Given the description of an element on the screen output the (x, y) to click on. 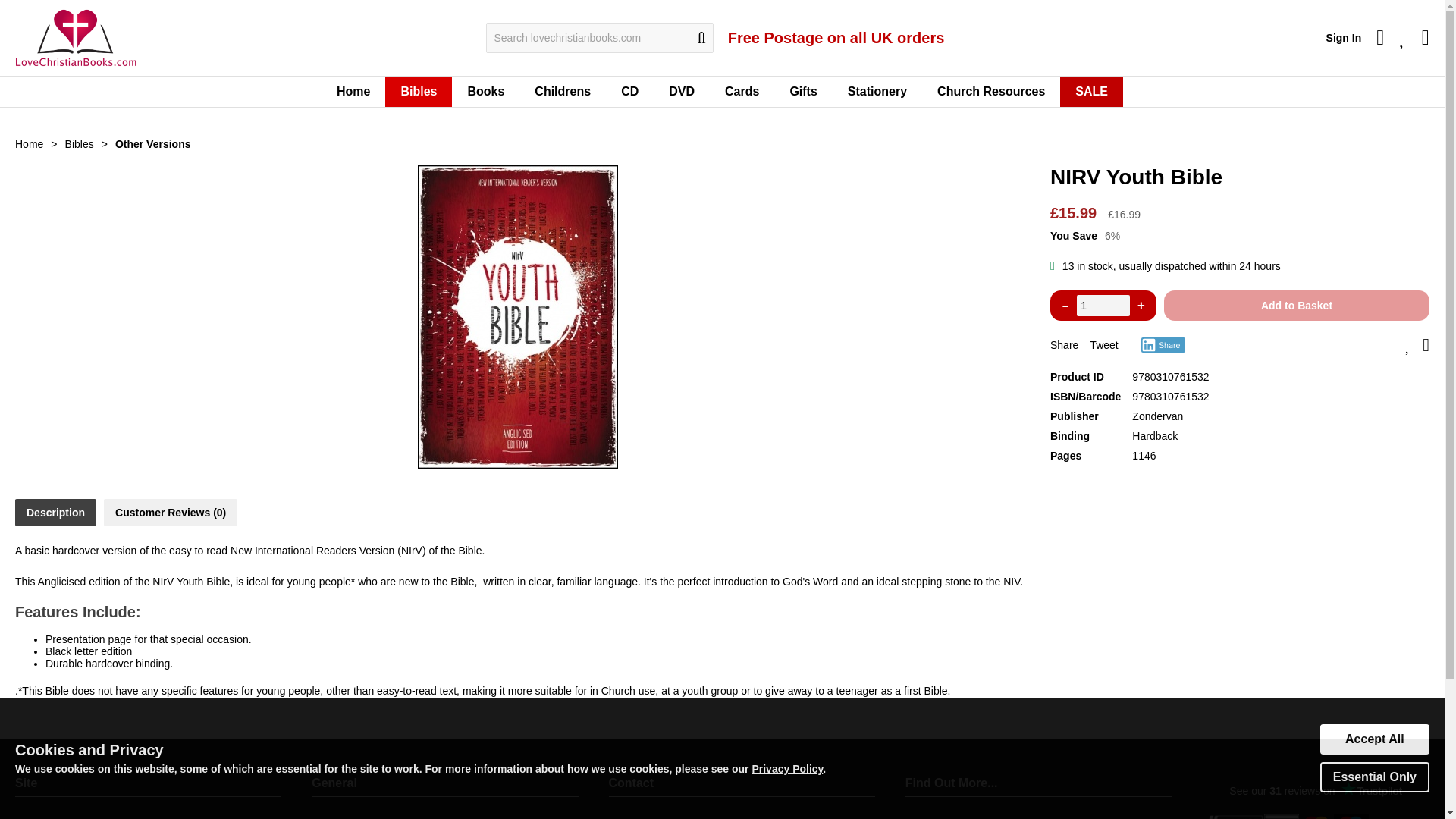
1 (1103, 305)
Bargain Christian Products all at Great Prices (1090, 91)
Customer reviews powered by Trustpilot (1315, 791)
Sign In (1343, 37)
Books (485, 91)
Bibles (418, 91)
Individual Christian Greetings Cards, with Scripture Verses (742, 91)
Home (353, 91)
Christian Stationery and Novelties (876, 91)
Buy all the resources for your church here (990, 91)
Christian Films for all Ages on DVD (681, 91)
Wide Range of Popular Bibles Including KJV, NIV, NLT (418, 91)
Christian Gifts for all Occasions (802, 91)
Christian Books from Popular Authors (485, 91)
